Given the description of an element on the screen output the (x, y) to click on. 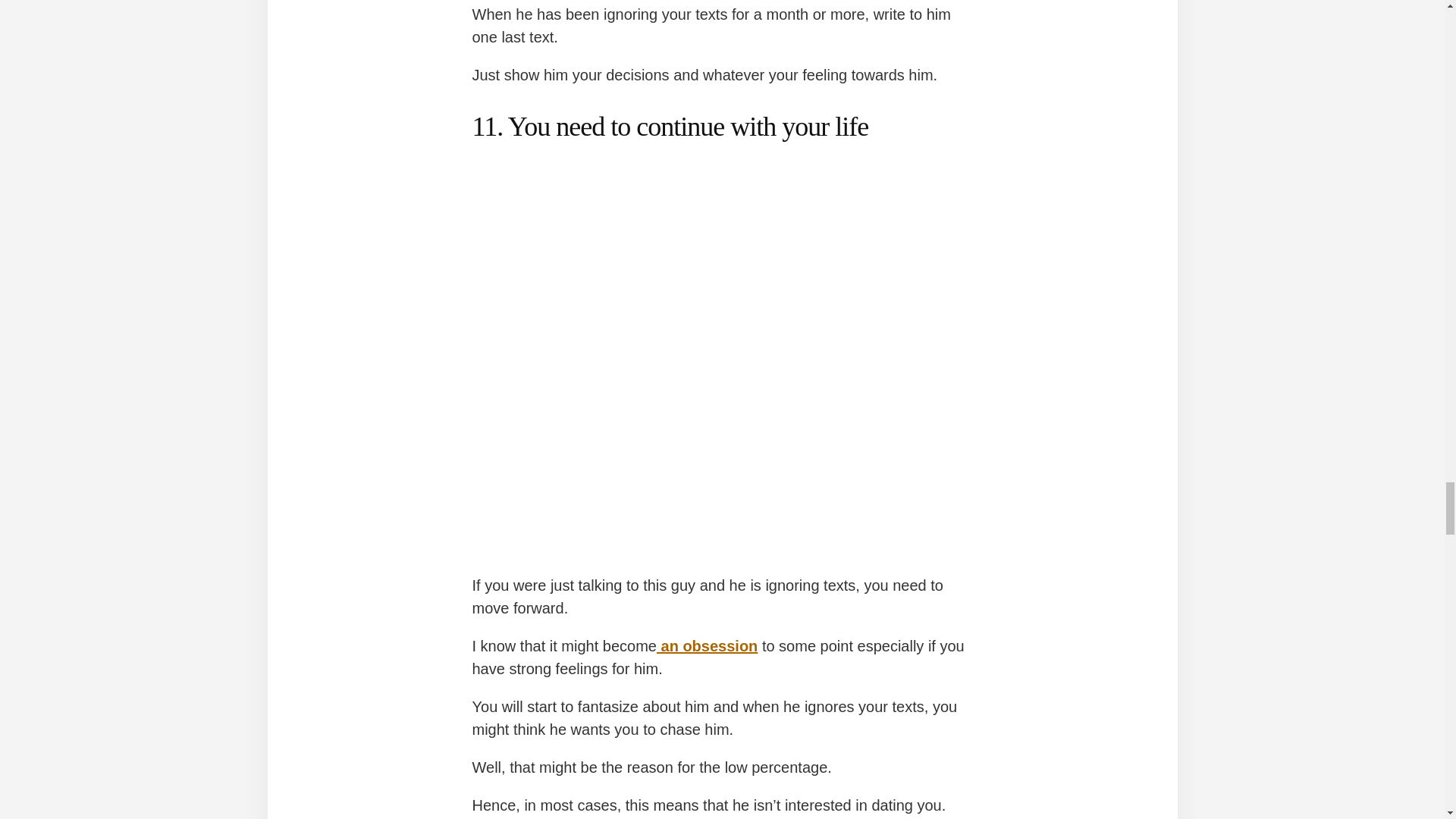
an obsession (706, 646)
